Given the description of an element on the screen output the (x, y) to click on. 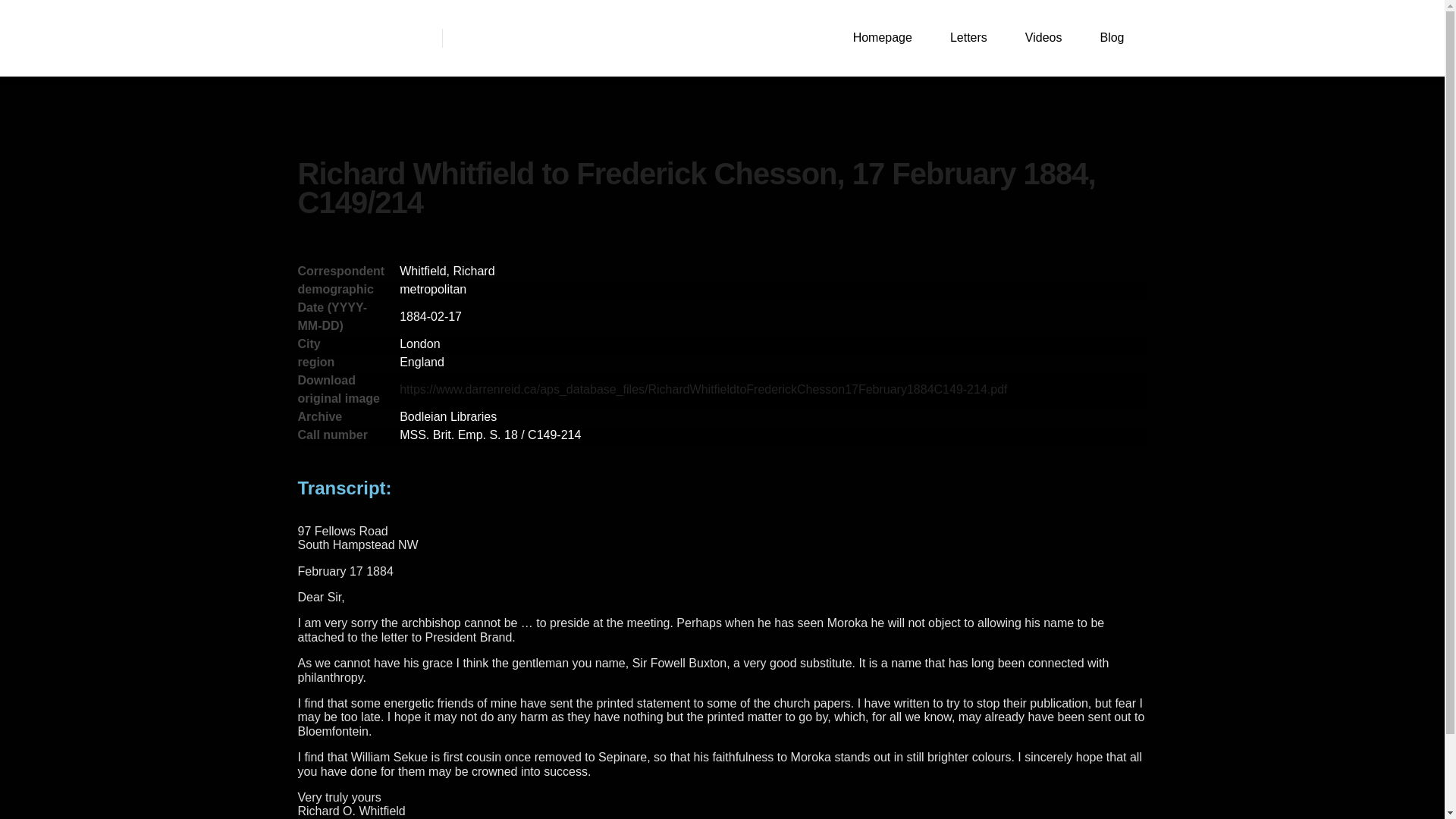
Letters to the Aborigines Protection Society (365, 37)
Letters to the Aborigines Protection Society (365, 37)
Homepage (882, 38)
Videos (1043, 38)
Letters (968, 38)
